Given the description of an element on the screen output the (x, y) to click on. 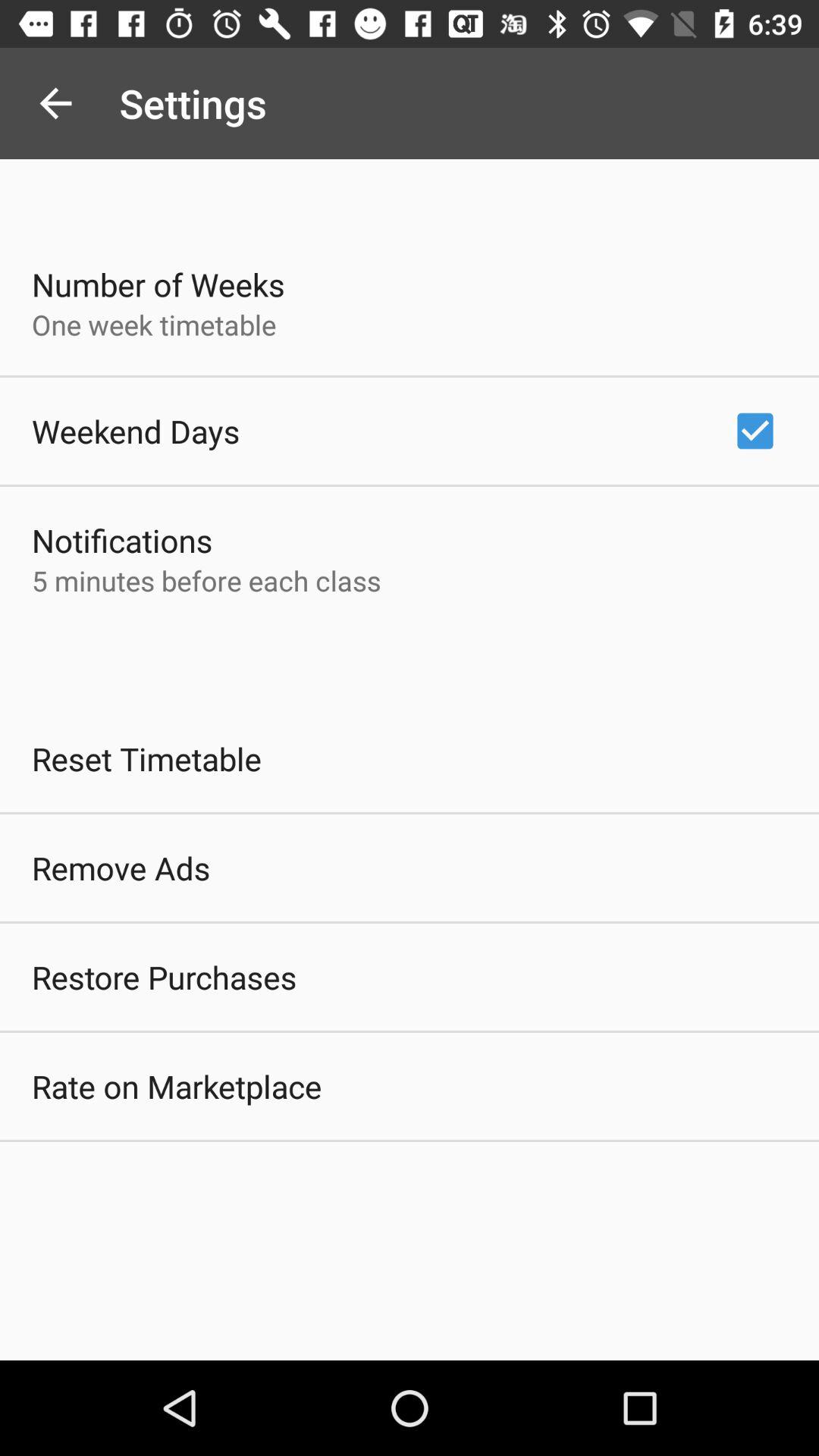
swipe to the weekend days (135, 430)
